Given the description of an element on the screen output the (x, y) to click on. 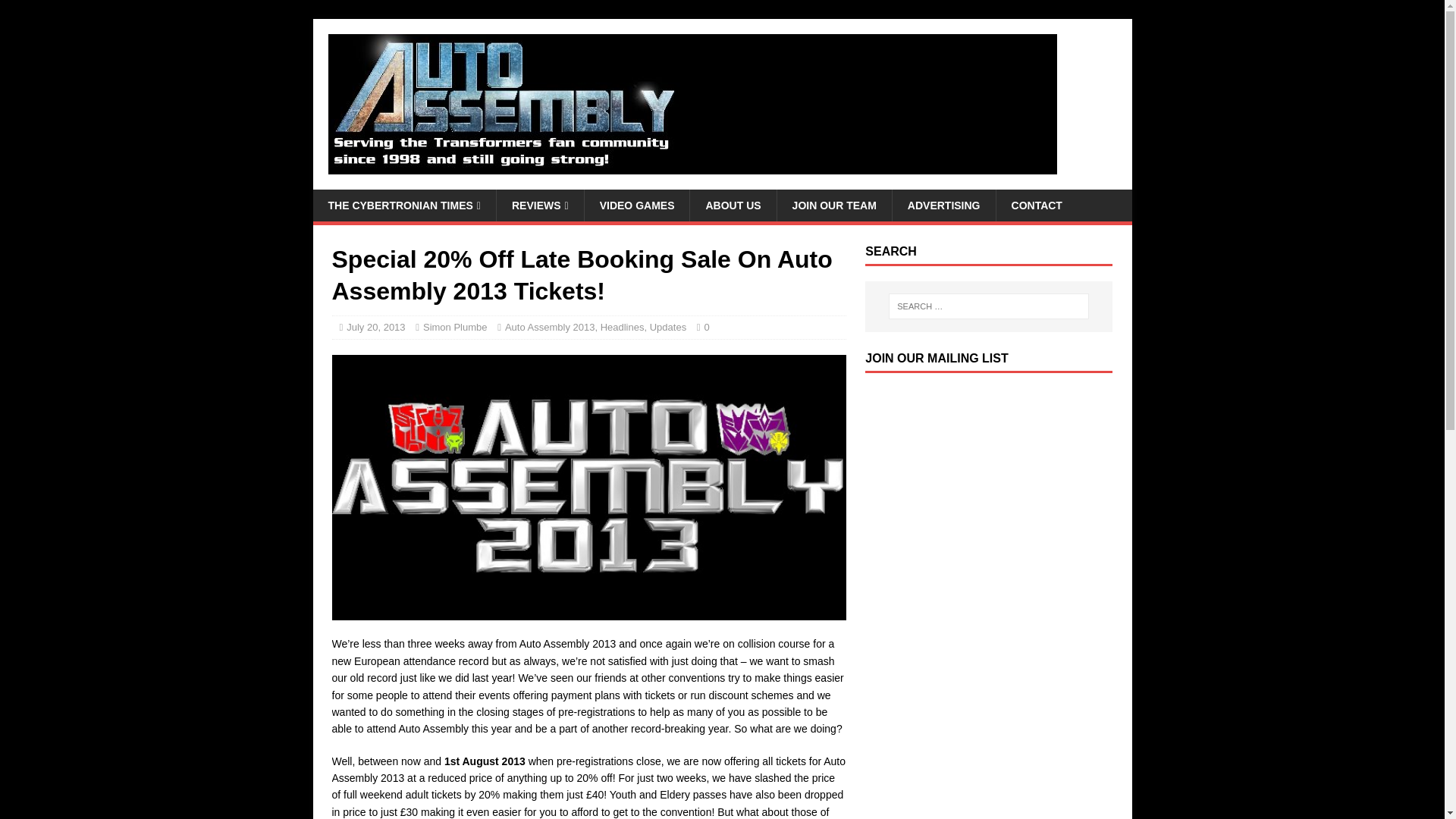
July 20, 2013 (375, 326)
ADVERTISING (943, 205)
Updates (667, 326)
VIDEO GAMES (636, 205)
THE CYBERTRONIAN TIMES (404, 205)
Simon Plumbe (455, 326)
CONTACT (1036, 205)
REVIEWS (539, 205)
Search (56, 11)
